Given the description of an element on the screen output the (x, y) to click on. 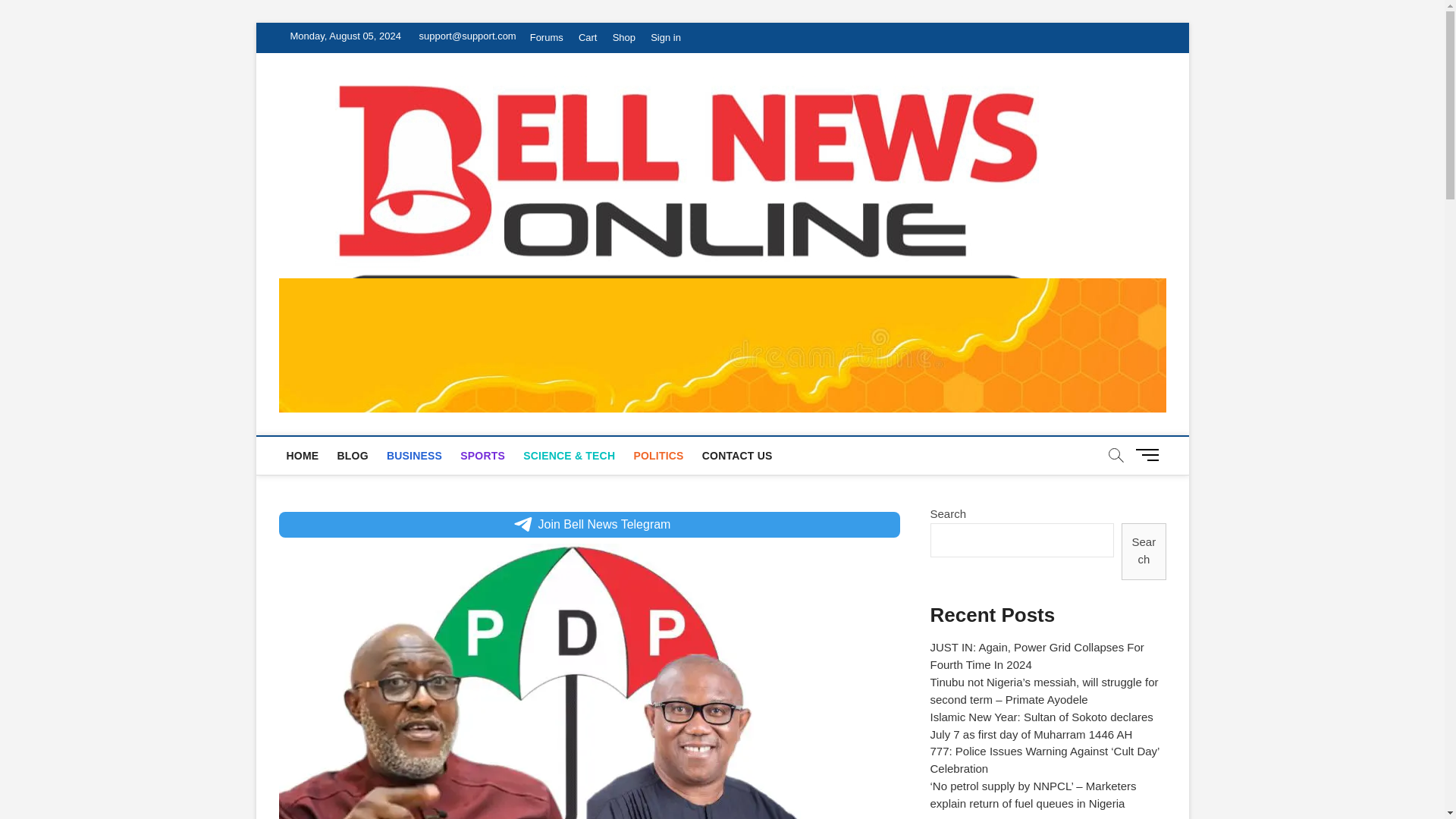
Shop (624, 37)
SPORTS (482, 455)
Cart (588, 37)
Forums (546, 37)
CONTACT US (737, 455)
Menu Button (1150, 454)
BLOG (352, 455)
Bell News (1137, 119)
Bell News (1137, 119)
